Given the description of an element on the screen output the (x, y) to click on. 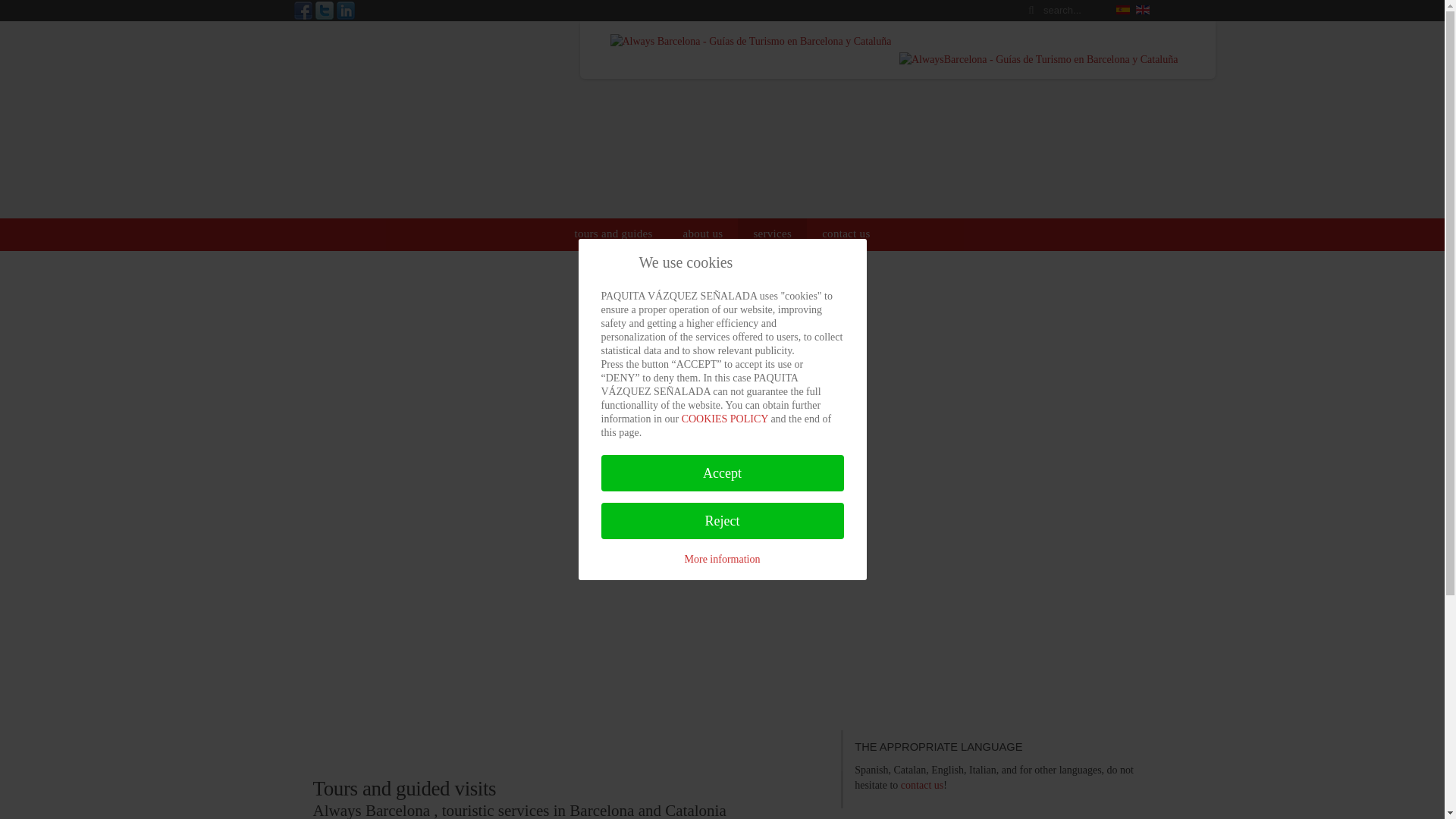
tours and guides (612, 234)
services (772, 234)
contact us (845, 234)
contact us (922, 785)
about us (703, 234)
